Given the description of an element on the screen output the (x, y) to click on. 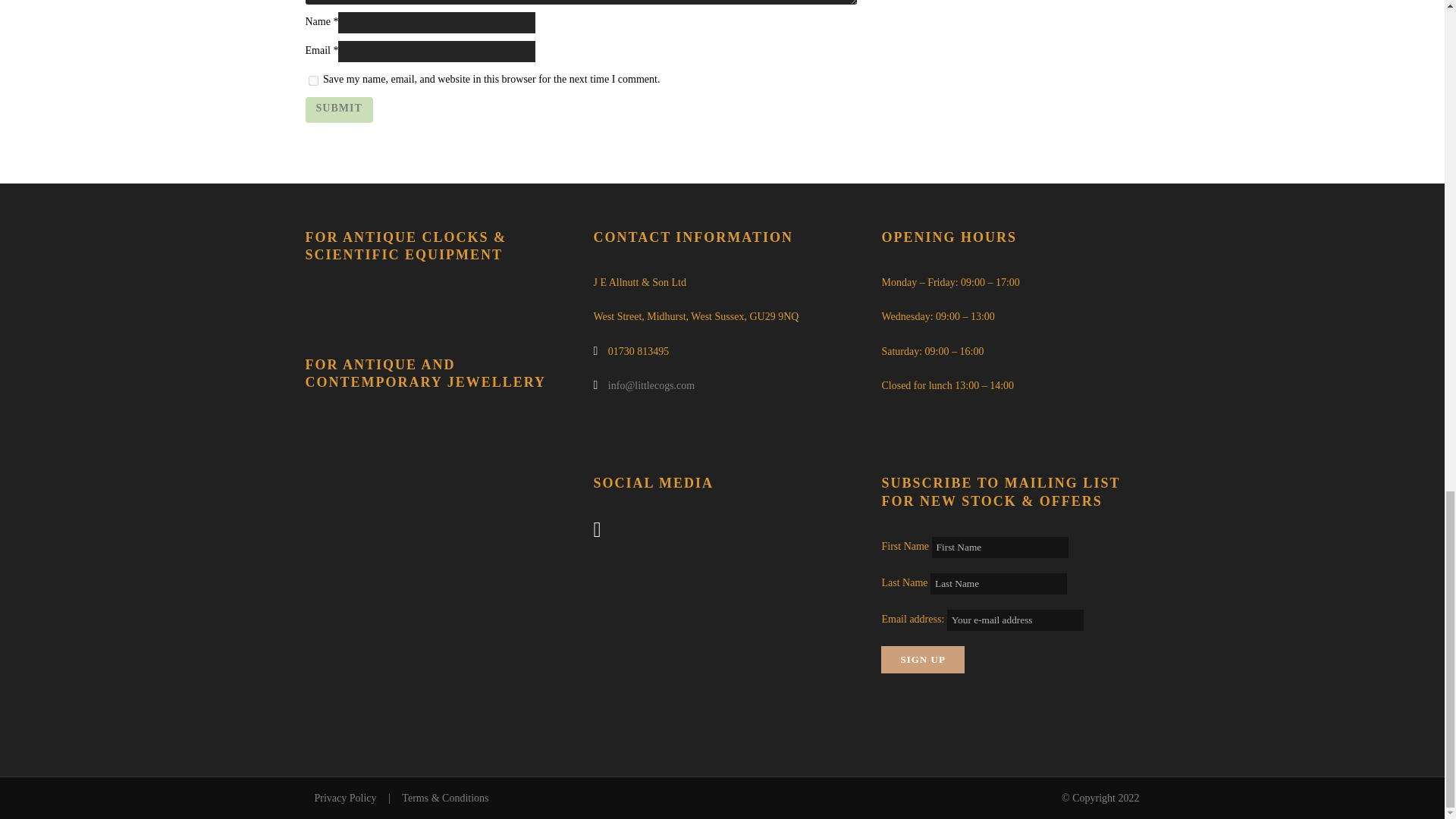
Submit (338, 109)
yes (312, 80)
Sign up (921, 659)
